Given the description of an element on the screen output the (x, y) to click on. 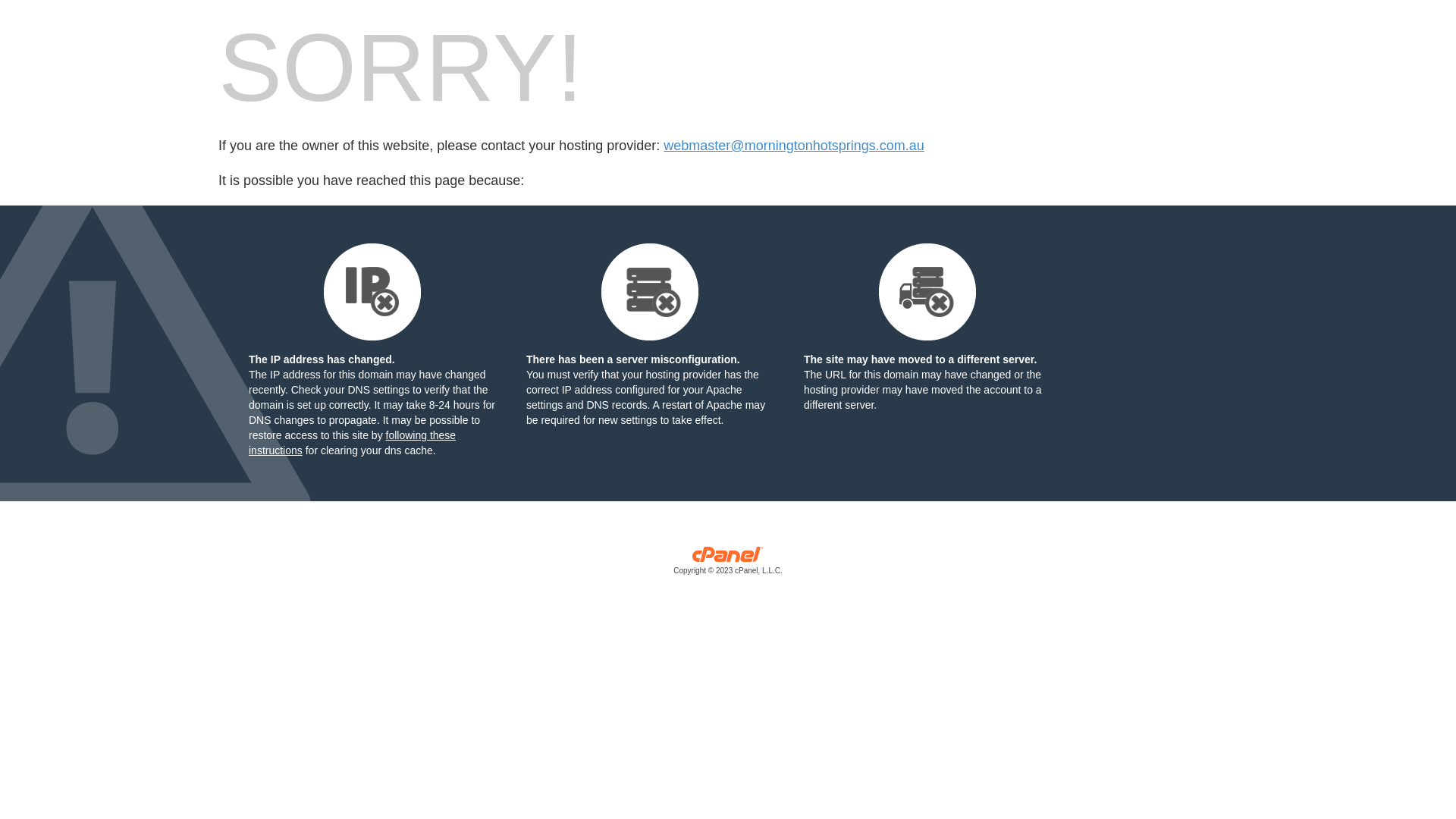
following these instructions Element type: text (351, 442)
webmaster@morningtonhotsprings.com.au Element type: text (793, 145)
